Given the description of an element on the screen output the (x, y) to click on. 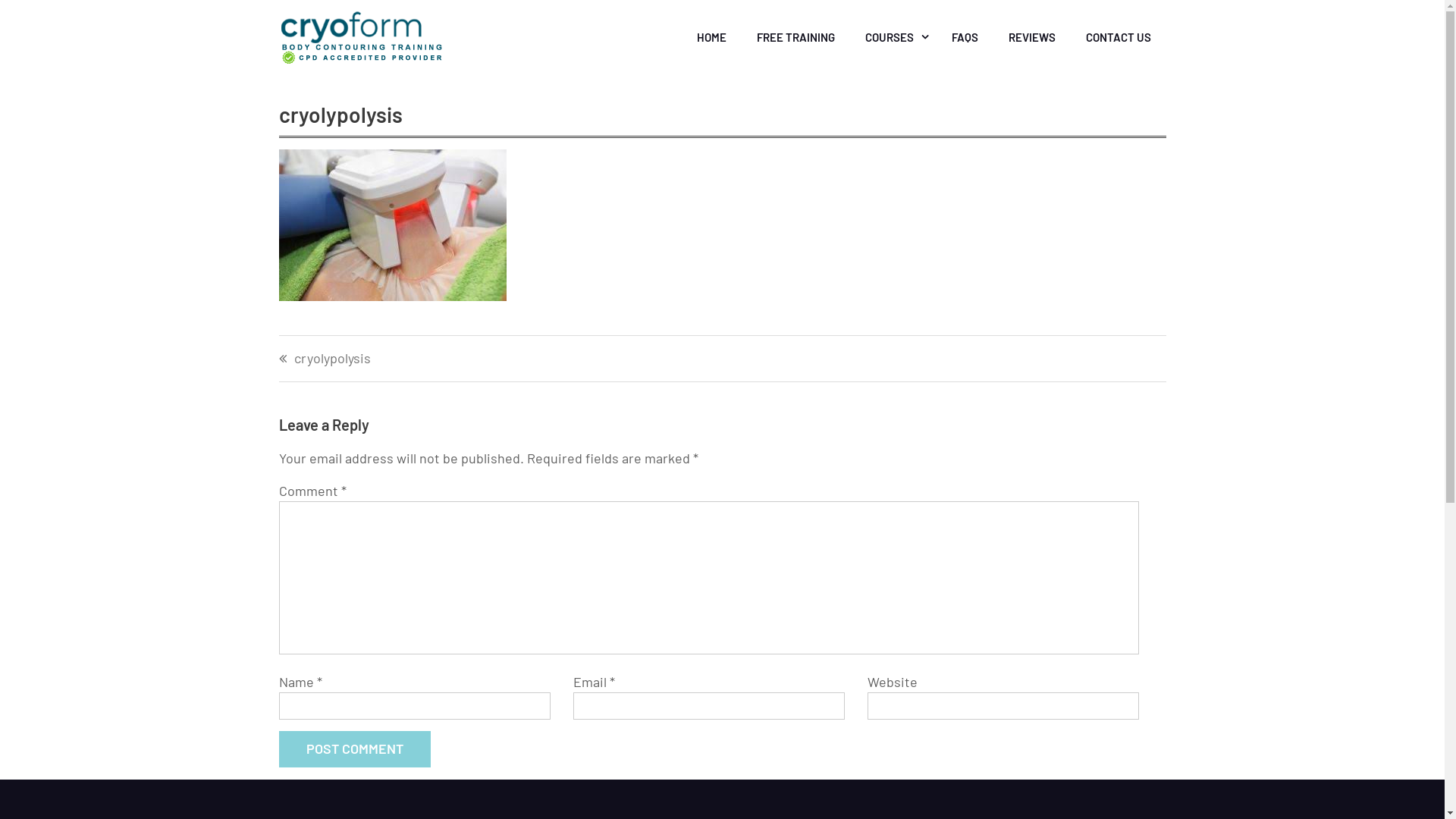
FAQS Element type: text (963, 37)
HOME Element type: text (710, 37)
cryolypolysis Element type: text (500, 358)
CONTACT US Element type: text (1118, 37)
COURSES Element type: text (892, 37)
REVIEWS Element type: text (1031, 37)
Post Comment Element type: text (354, 749)
FREE TRAINING Element type: text (795, 37)
